Given the description of an element on the screen output the (x, y) to click on. 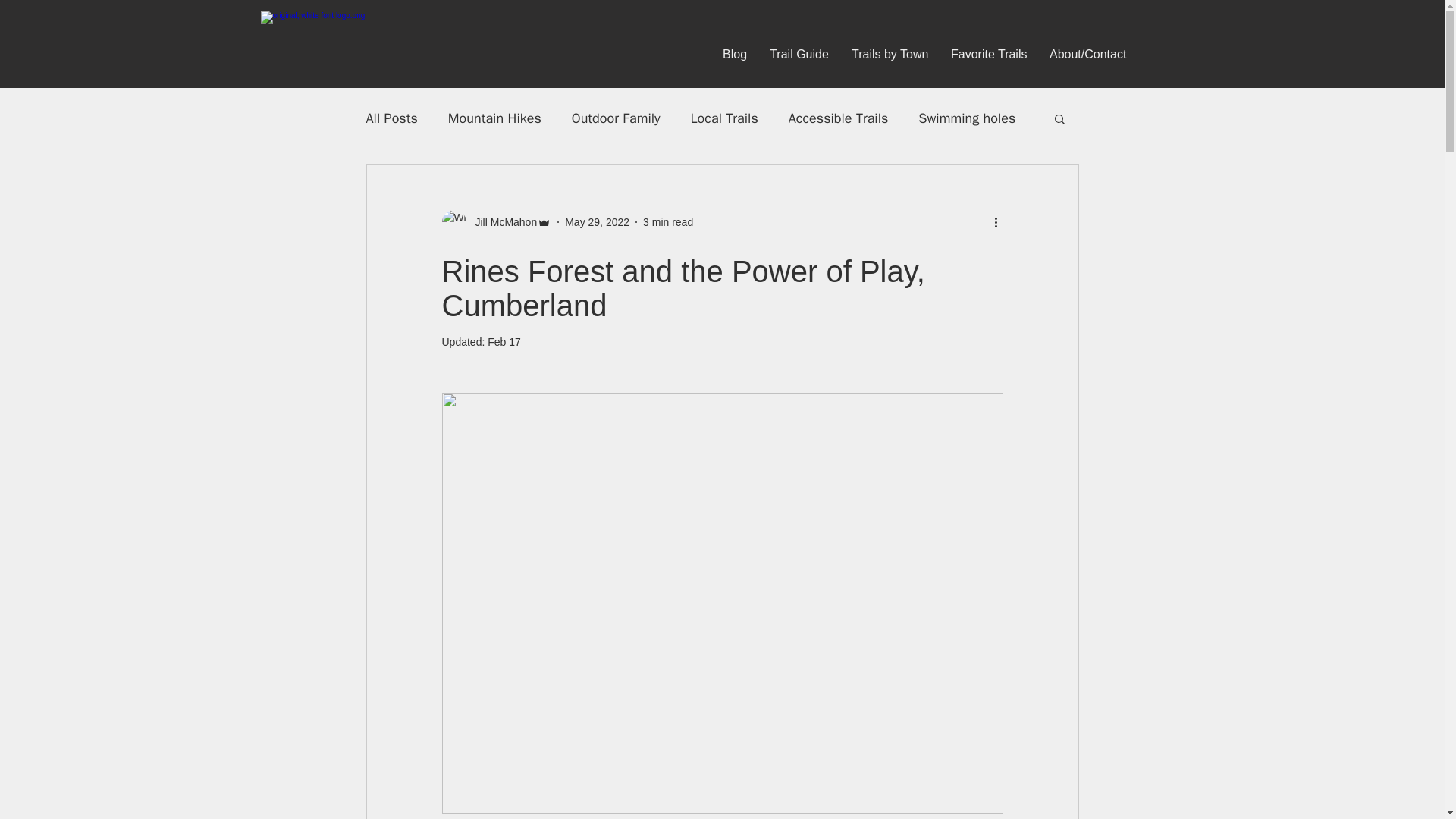
Jill McMahon (501, 221)
May 29, 2022 (596, 221)
Feb 17 (504, 341)
Accessible Trails (838, 117)
Trails by Town (889, 53)
Mountain Hikes (494, 117)
All Posts (390, 117)
Swimming holes (966, 117)
Outdoor Family (616, 117)
Local Trails (724, 117)
